Given the description of an element on the screen output the (x, y) to click on. 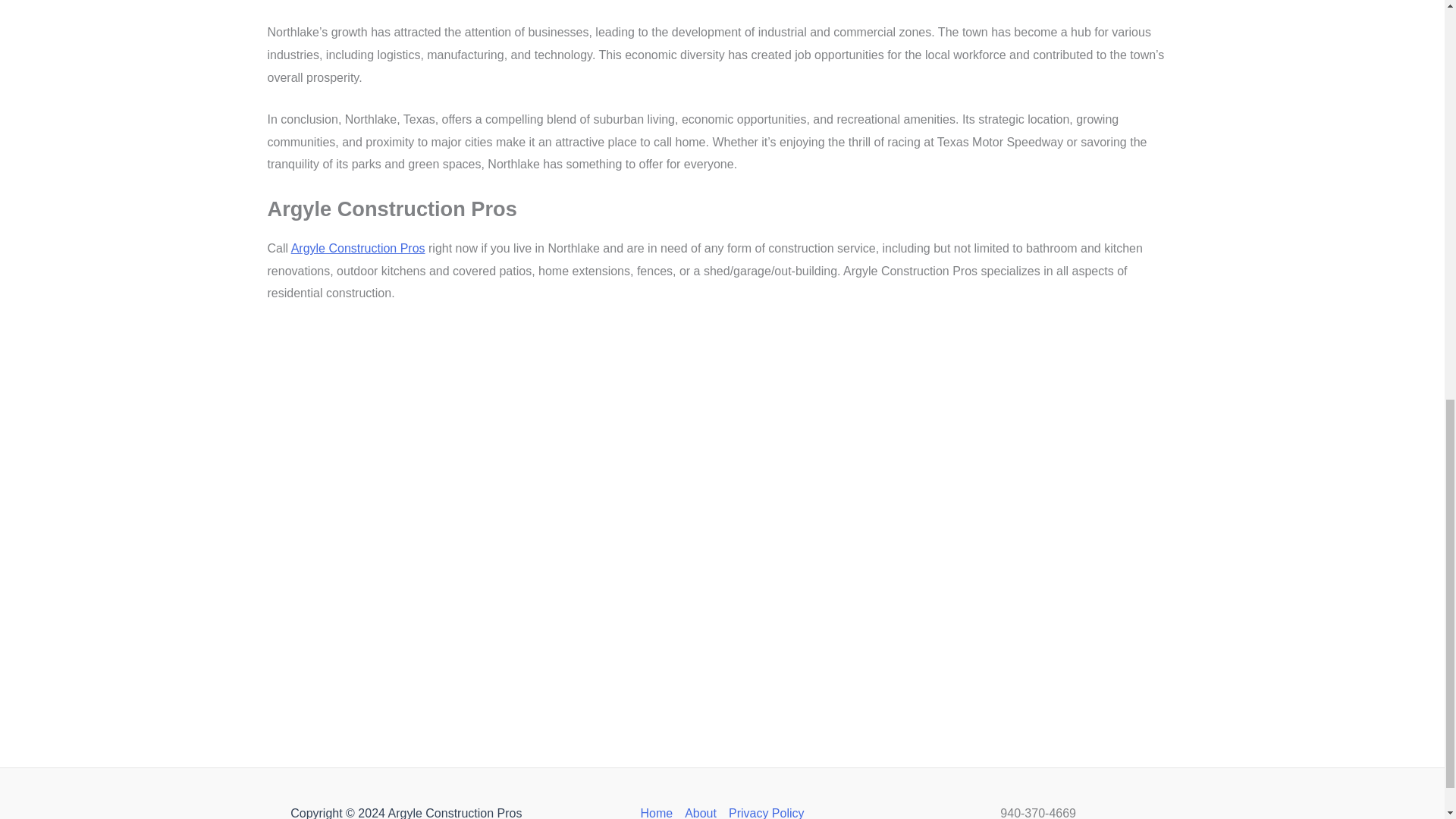
Argyle Construction Pros (358, 247)
